Given the description of an element on the screen output the (x, y) to click on. 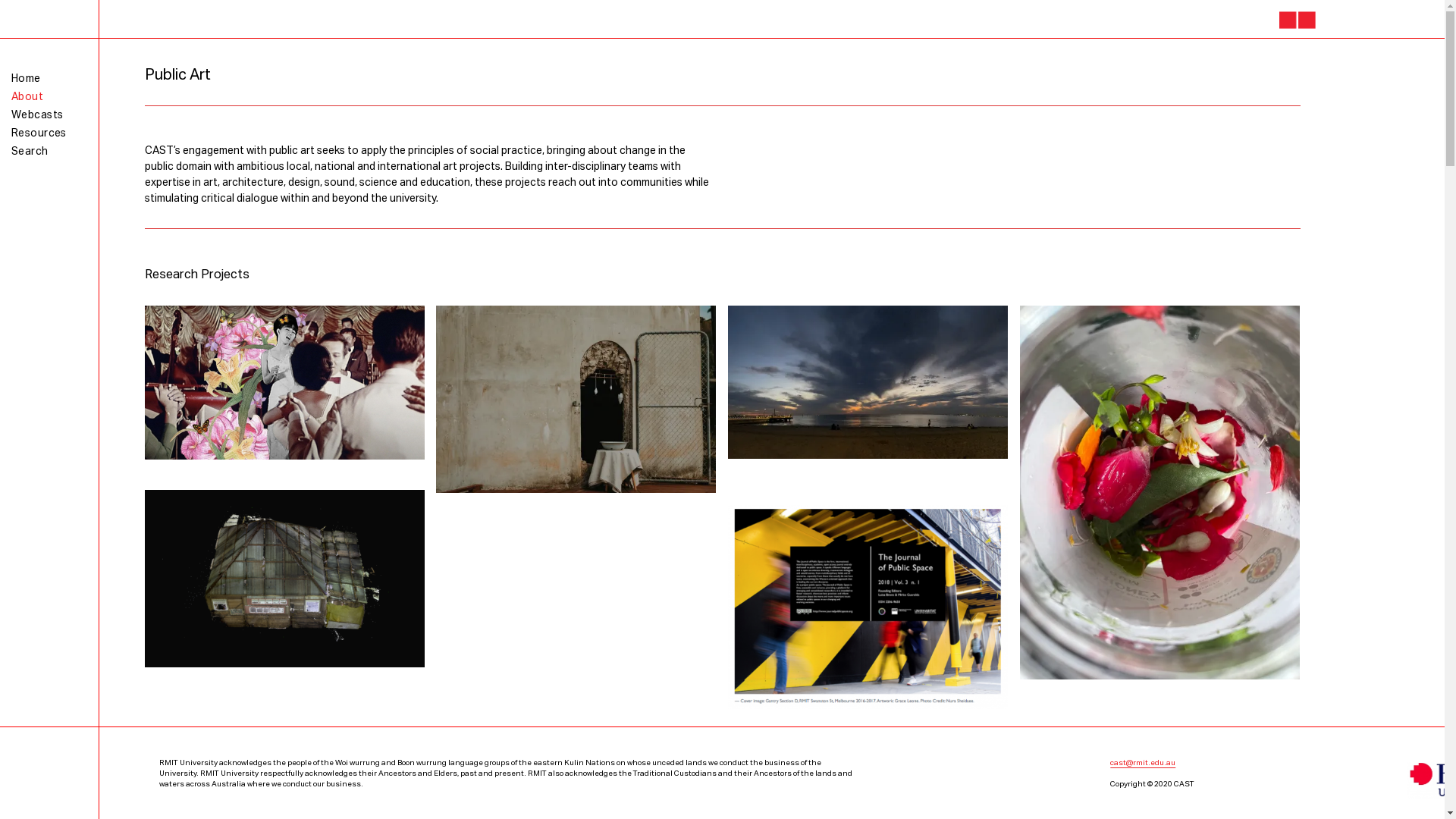
Search Element type: text (29, 151)
cast@rmit.edu.au Element type: text (1142, 762)
Home Element type: text (25, 78)
Resources Element type: text (38, 133)
About Element type: text (27, 96)
Webcasts Element type: text (36, 114)
